Given the description of an element on the screen output the (x, y) to click on. 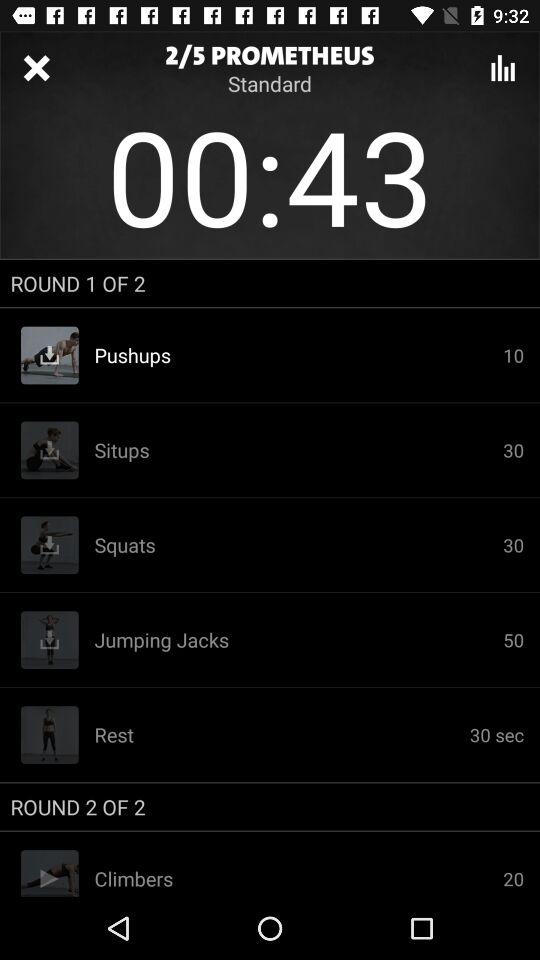
turn off the icon next to the 10 (298, 450)
